Given the description of an element on the screen output the (x, y) to click on. 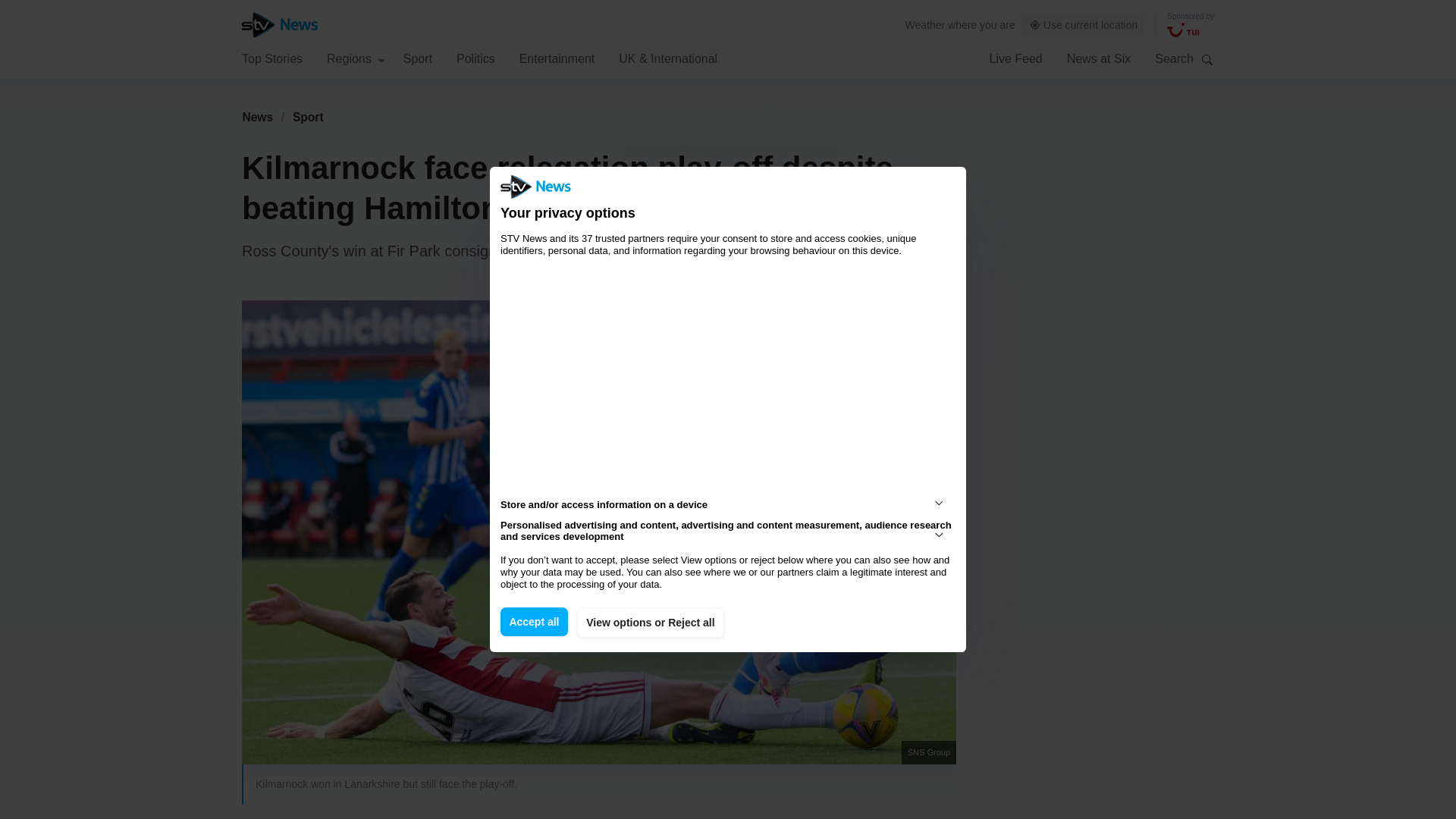
News (257, 116)
Regions (355, 57)
Sport (308, 116)
Live Feed (1015, 57)
Top Stories (271, 57)
Search (1206, 59)
Politics (476, 57)
News at Six (1099, 57)
Use current location (1083, 25)
